Given the description of an element on the screen output the (x, y) to click on. 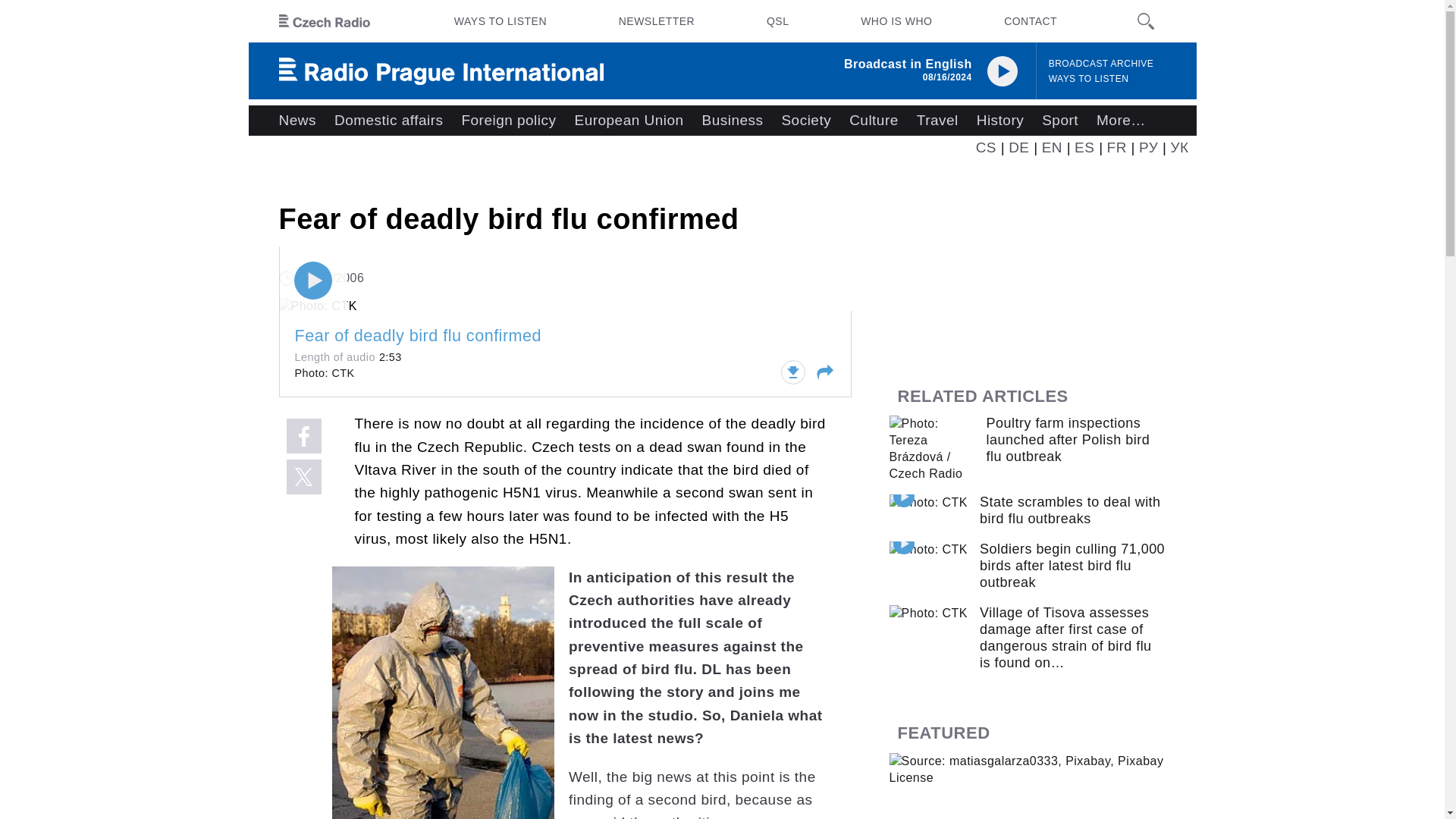
Sport (1059, 120)
CS (985, 147)
WAYS TO LISTEN (1088, 78)
European Union (628, 120)
NEWSLETTER (656, 21)
Foreign policy (507, 120)
WAYS TO LISTEN (500, 21)
Czech Radio (324, 21)
Culture (873, 120)
CONTACT (1029, 21)
